Given the description of an element on the screen output the (x, y) to click on. 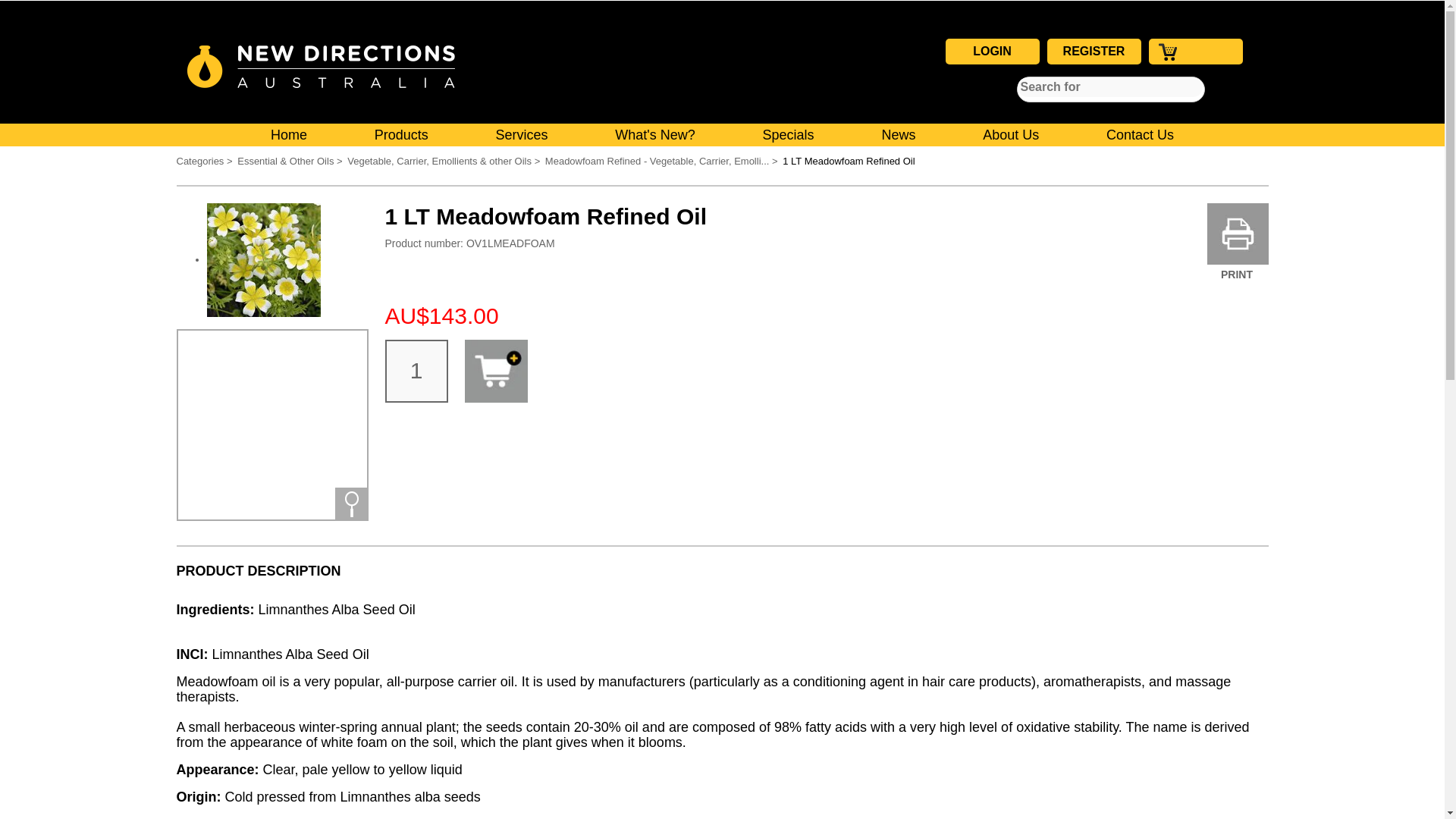
1 (416, 370)
Start search (1029, 88)
Add to basket (495, 370)
